Given the description of an element on the screen output the (x, y) to click on. 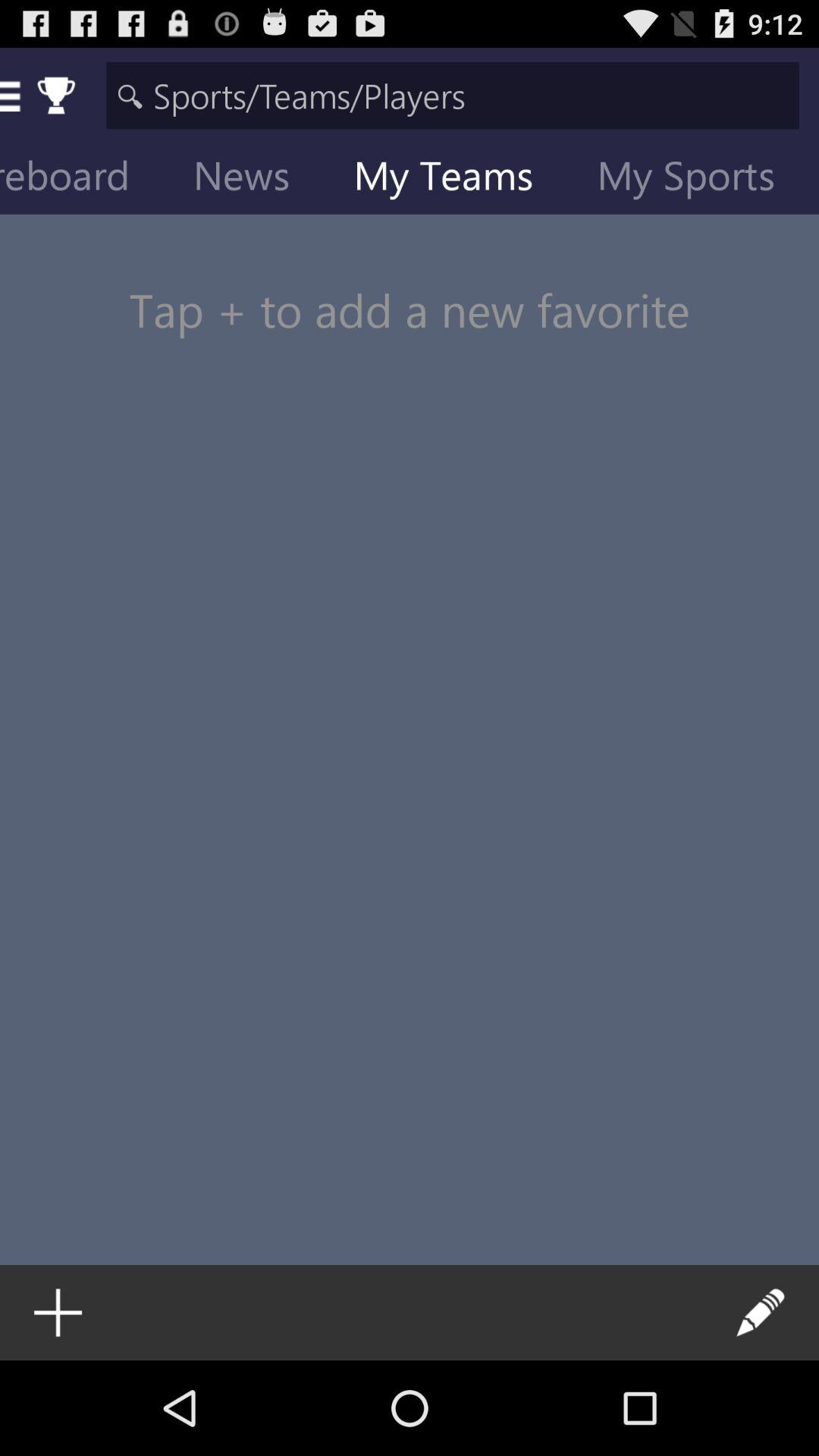
area for entered text for a search (452, 95)
